Given the description of an element on the screen output the (x, y) to click on. 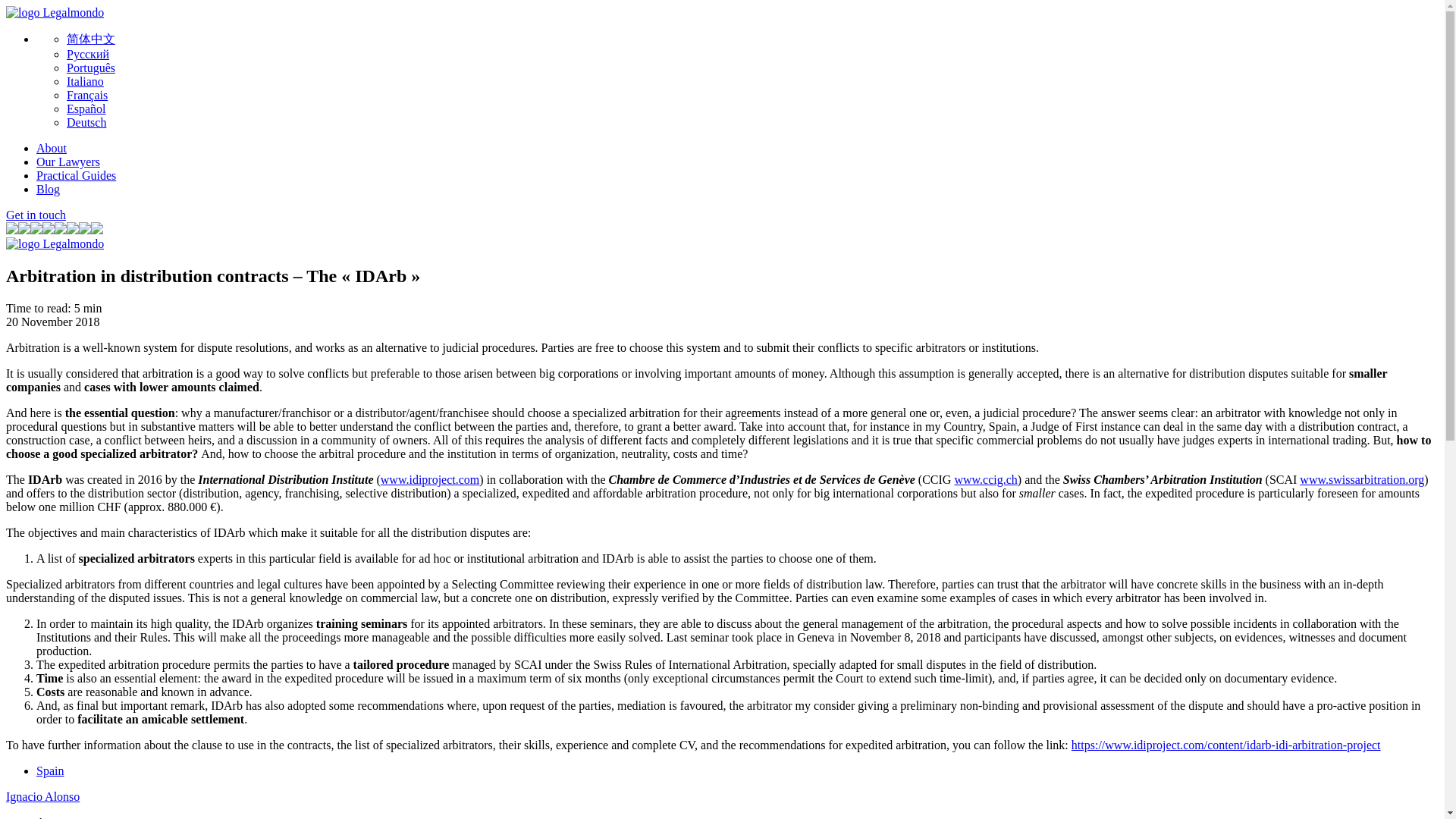
Practical Guides (76, 174)
Italiano (84, 81)
About (51, 147)
Get in touch (35, 214)
Ignacio Alonso (42, 796)
Spain (50, 770)
www.swissarbitration.org (1361, 479)
Blog (47, 188)
www.ccig.ch (984, 479)
Deutsch (86, 122)
Our Lawyers (68, 161)
www.idiproject.com (429, 479)
